Given the description of an element on the screen output the (x, y) to click on. 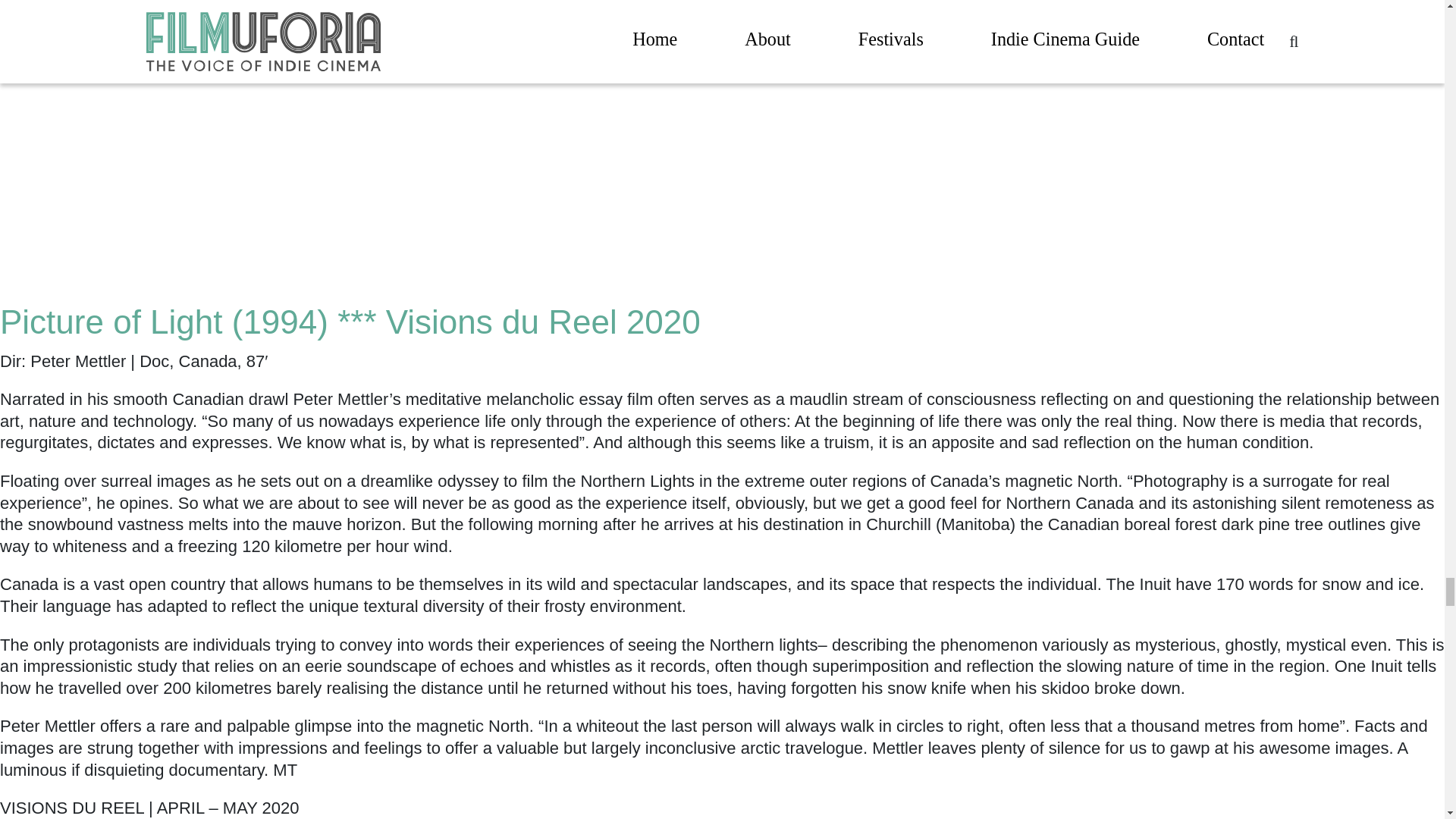
Elena - Official Trailer (189, 101)
